Given the description of an element on the screen output the (x, y) to click on. 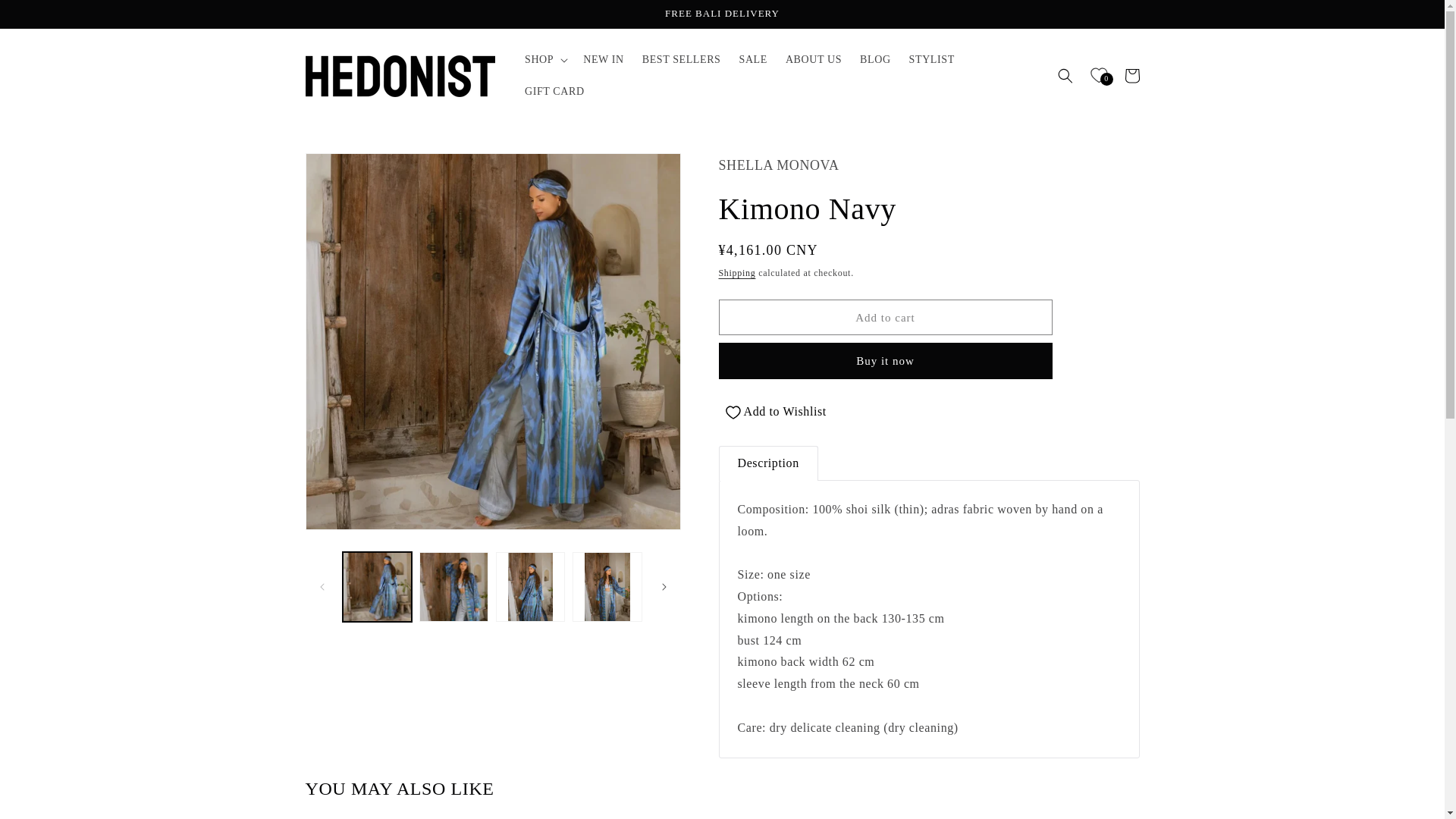
Skip to content (45, 17)
